Given the description of an element on the screen output the (x, y) to click on. 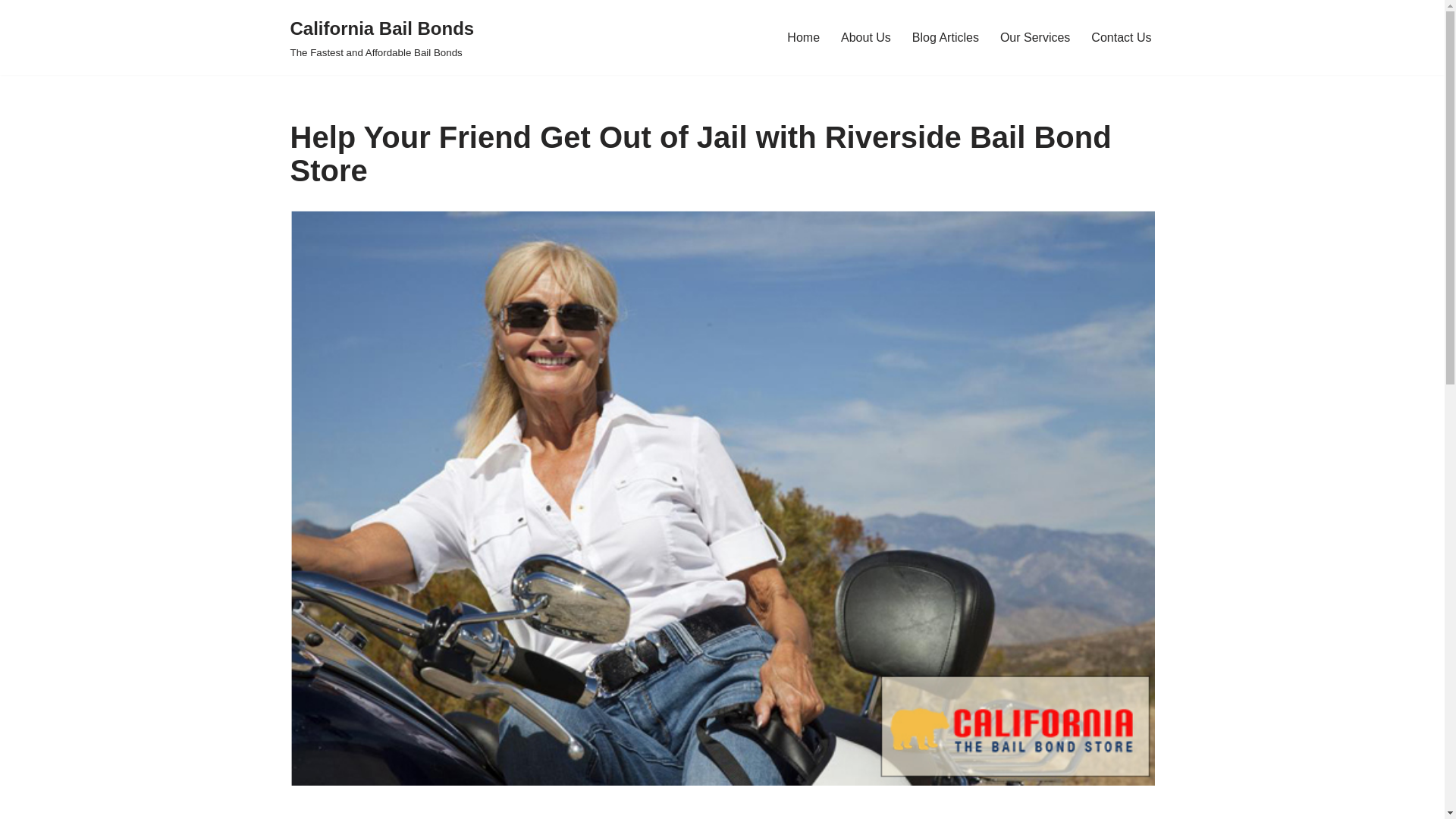
Blog Articles (381, 37)
About Us (945, 37)
Skip to content (866, 37)
Home (11, 31)
Contact Us (803, 37)
Our Services (1120, 37)
